Given the description of an element on the screen output the (x, y) to click on. 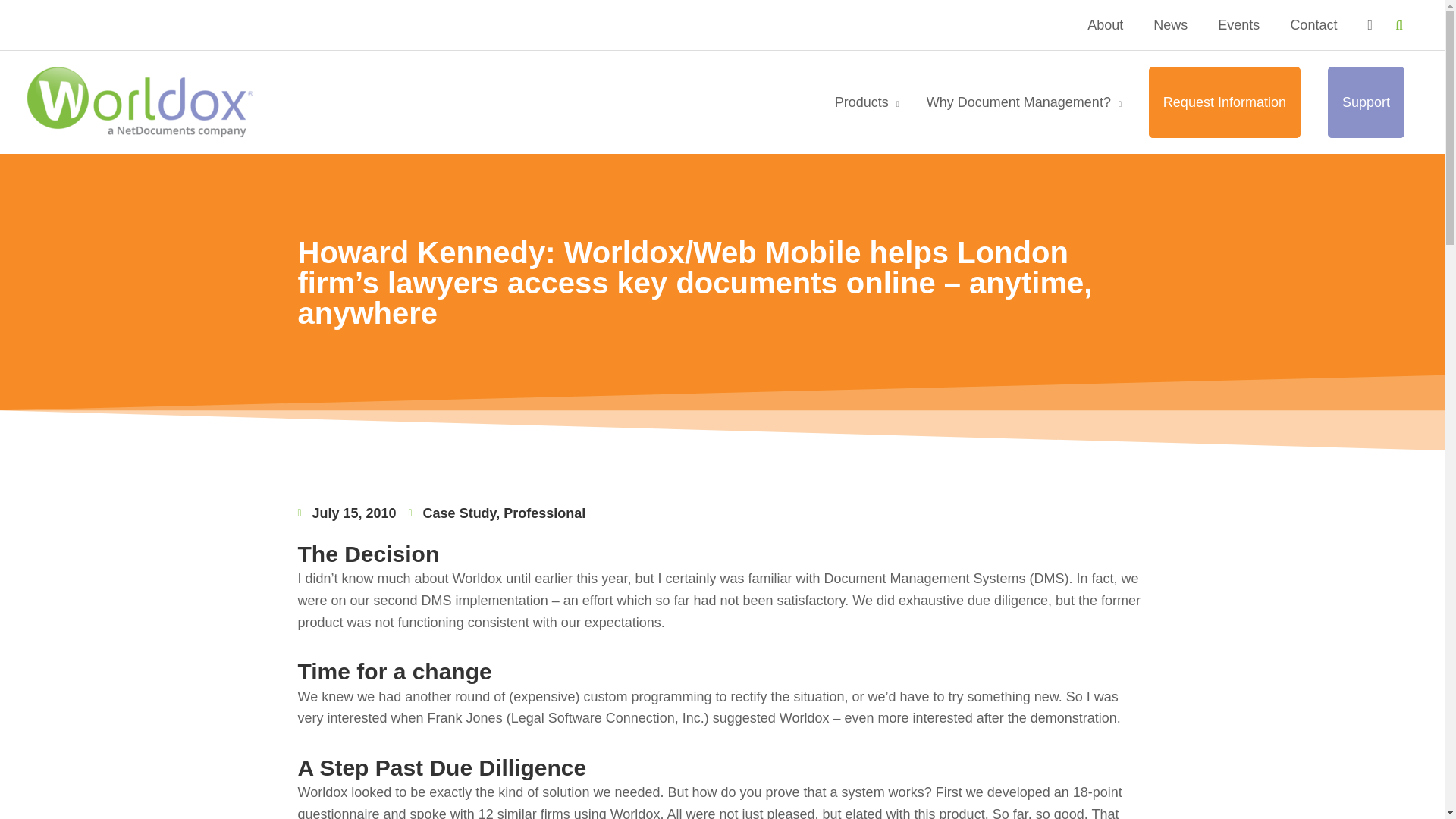
Request Information (1224, 102)
Professional (544, 513)
Events (1238, 24)
Support (1366, 102)
Contact (1313, 24)
About (1104, 24)
News (1170, 24)
Why Document Management? (1023, 102)
Products (866, 102)
Case Study (459, 513)
